Given the description of an element on the screen output the (x, y) to click on. 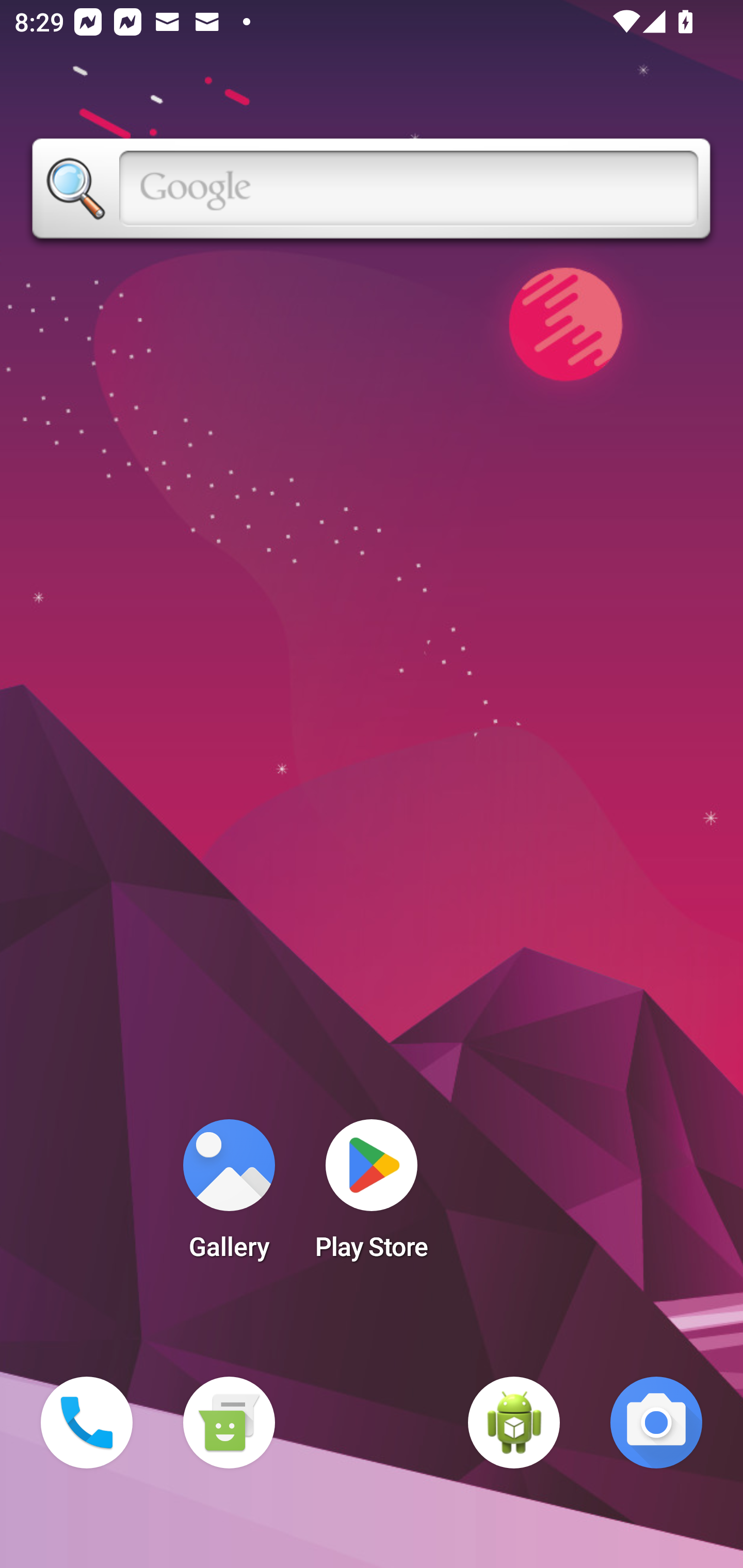
Gallery (228, 1195)
Play Store (371, 1195)
Phone (86, 1422)
Messaging (228, 1422)
WebView Browser Tester (513, 1422)
Camera (656, 1422)
